Given the description of an element on the screen output the (x, y) to click on. 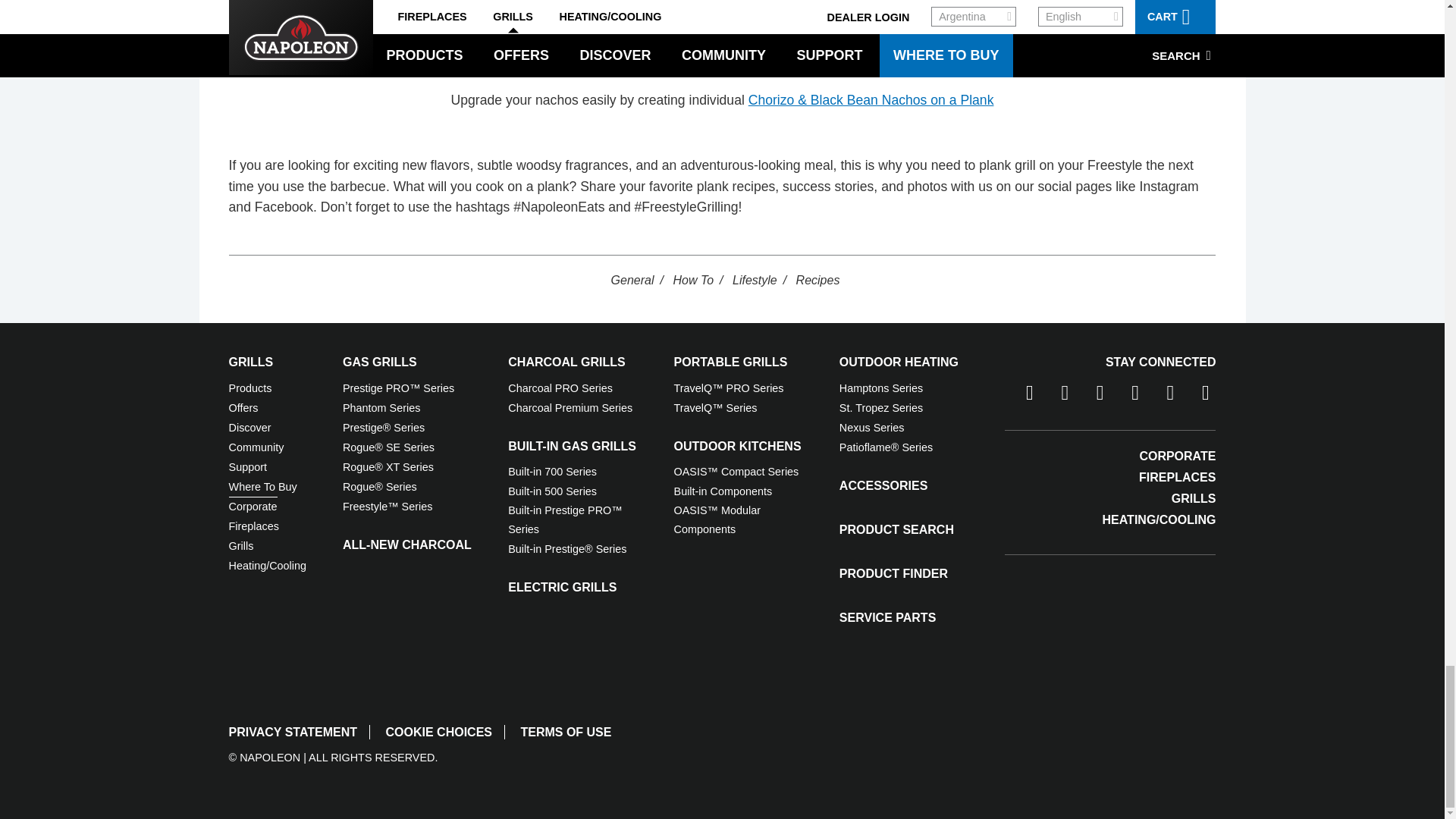
YouTube (1126, 395)
LinkedIn (1162, 395)
Twitter (1058, 395)
Instagram (1092, 395)
Pinterest (1197, 395)
Facebook (1021, 395)
